Given the description of an element on the screen output the (x, y) to click on. 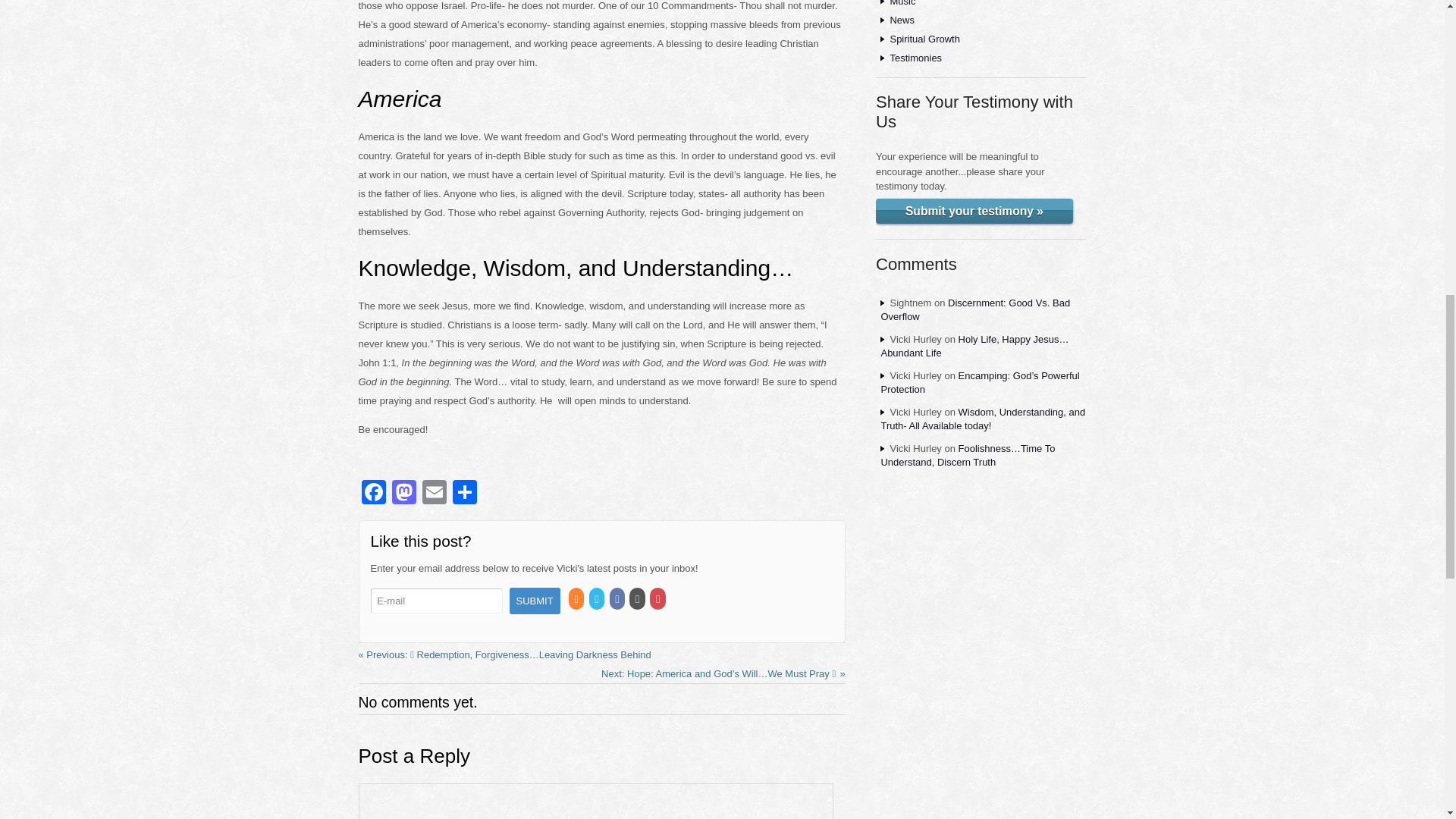
Facebook (373, 493)
Twitter (598, 599)
Facebook (373, 493)
Submit (534, 601)
Email (433, 493)
Music (902, 3)
Submit (534, 601)
Email (433, 493)
Mastodon (403, 493)
E-mail (435, 600)
